Given the description of an element on the screen output the (x, y) to click on. 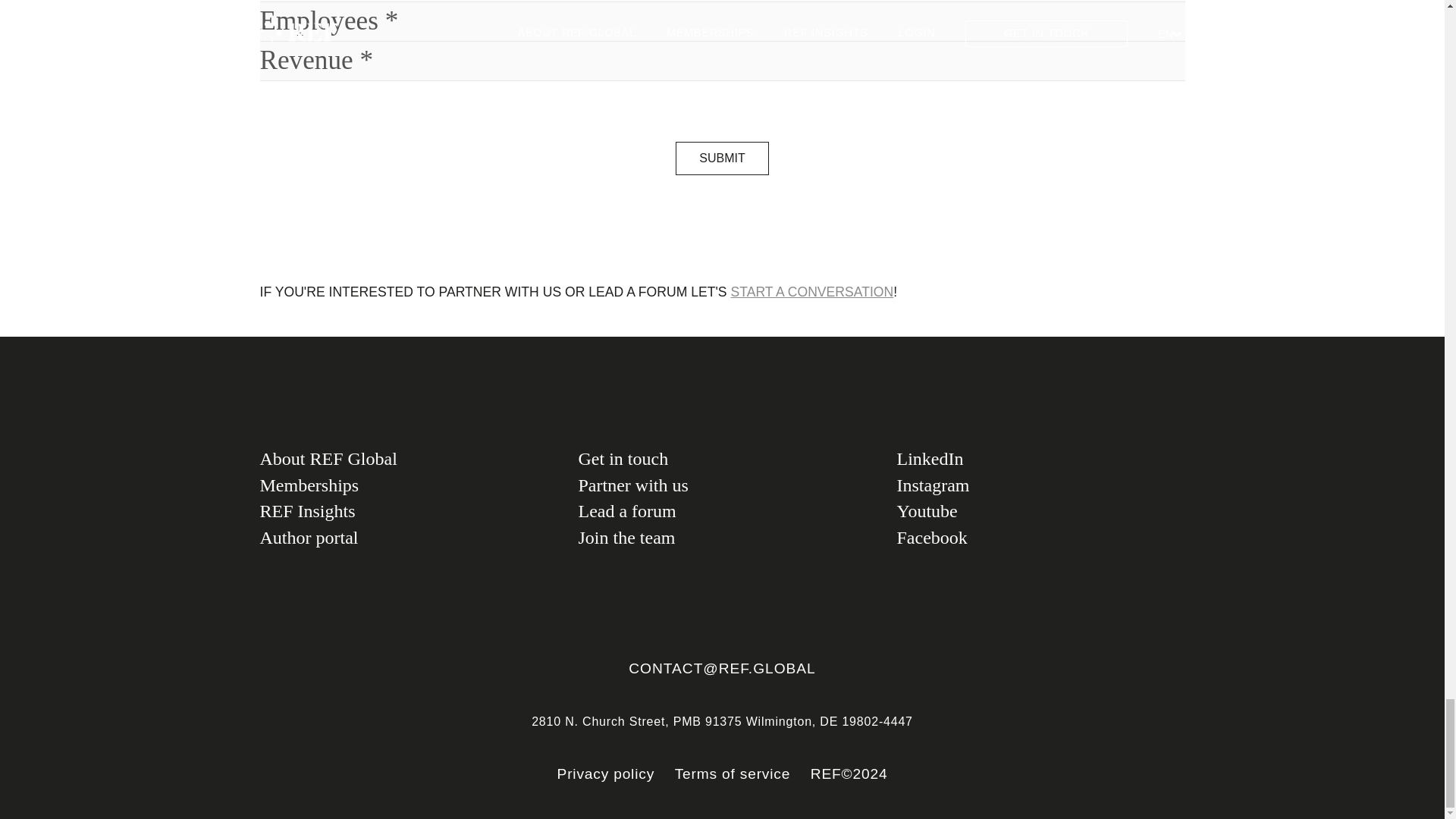
About REF Global (403, 458)
Memberships (403, 485)
Author portal (403, 537)
Submit (721, 158)
REF Insights (403, 510)
START A CONVERSATION (811, 291)
Submit (721, 158)
